Given the description of an element on the screen output the (x, y) to click on. 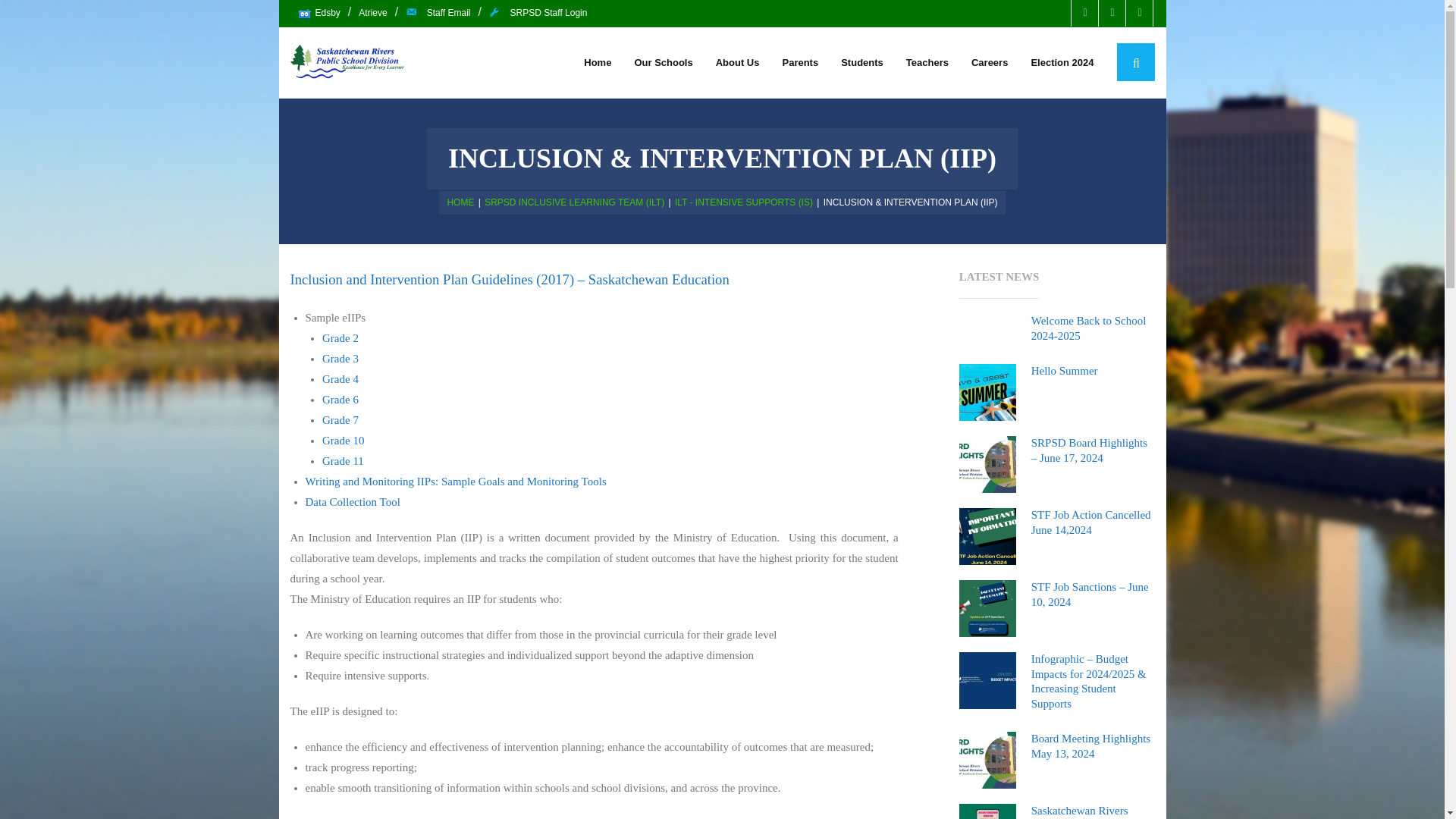
Edsby (318, 13)
STF Job Action Cancelled June 14,2024 (987, 536)
Teachers (927, 62)
About Us (737, 62)
Atrieve (372, 13)
SRPSD Staff Login (537, 13)
Election 2024 (1062, 62)
Our Schools (663, 62)
Students (862, 62)
Search (44, 22)
